Given the description of an element on the screen output the (x, y) to click on. 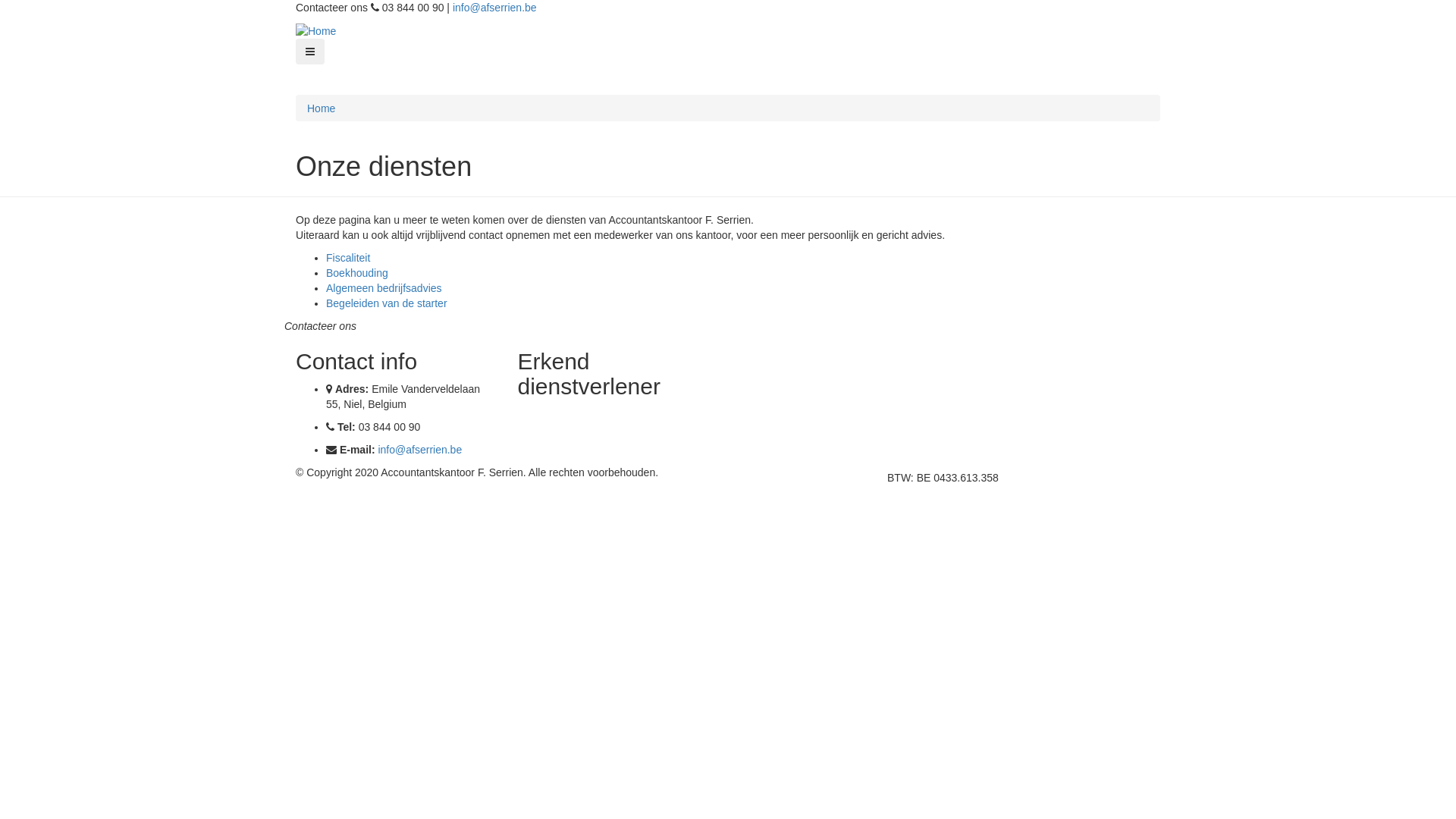
Boekhouding Element type: text (357, 272)
info@afserrien.be Element type: text (494, 7)
Algemeen bedrijfsadvies Element type: text (384, 288)
Home Element type: text (321, 108)
info@afserrien.be Element type: text (419, 449)
Begeleiden van de starter Element type: text (386, 303)
Fiscaliteit Element type: text (348, 257)
Home Element type: hover (315, 30)
